Given the description of an element on the screen output the (x, y) to click on. 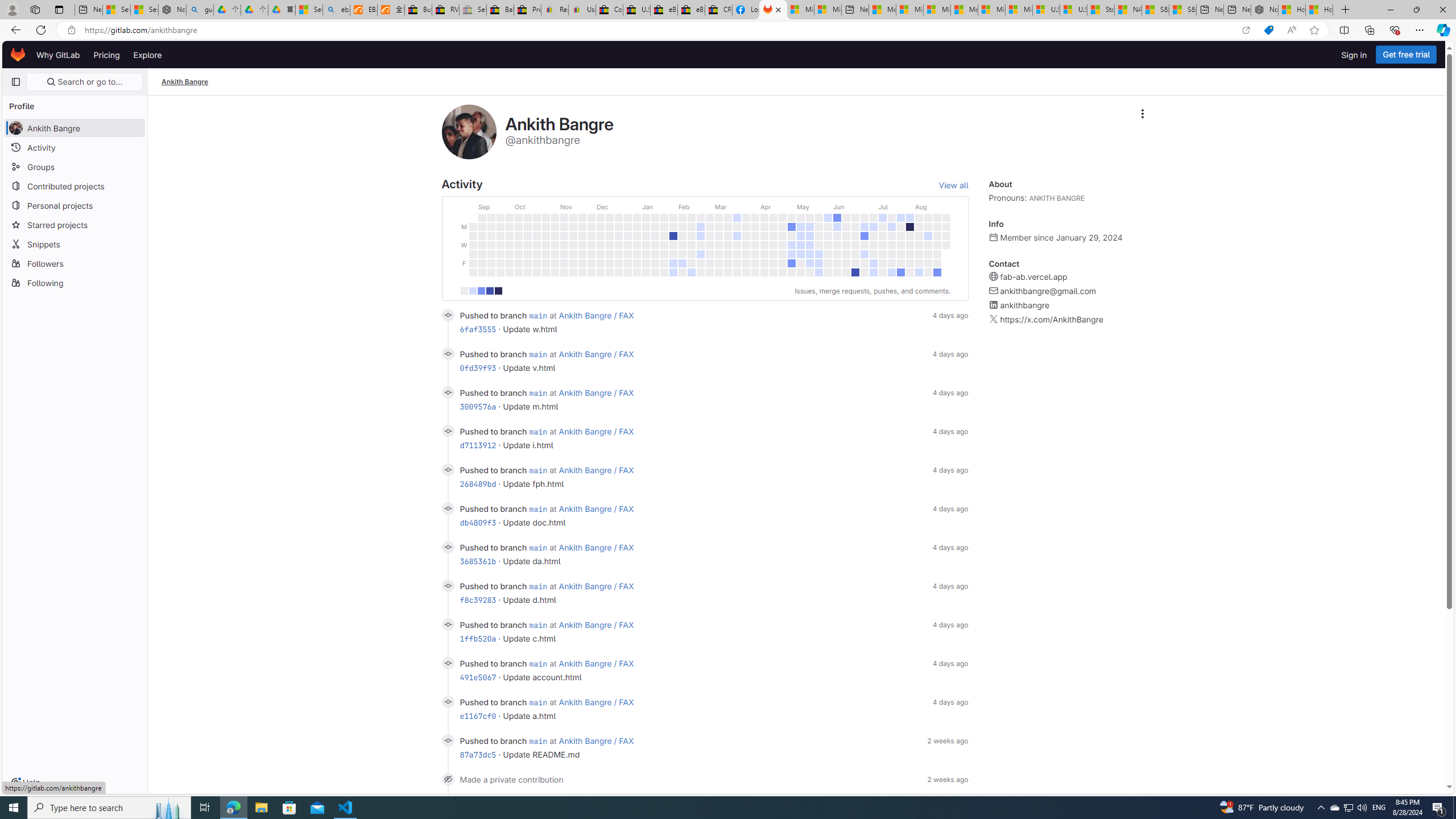
S&P 500, Nasdaq end lower, weighed by Nvidia dip | Watch (1182, 9)
User Privacy Notice | eBay (581, 9)
Register: Create a personal eBay account (554, 9)
Ankith Bangre / FAX (596, 740)
